Given the description of an element on the screen output the (x, y) to click on. 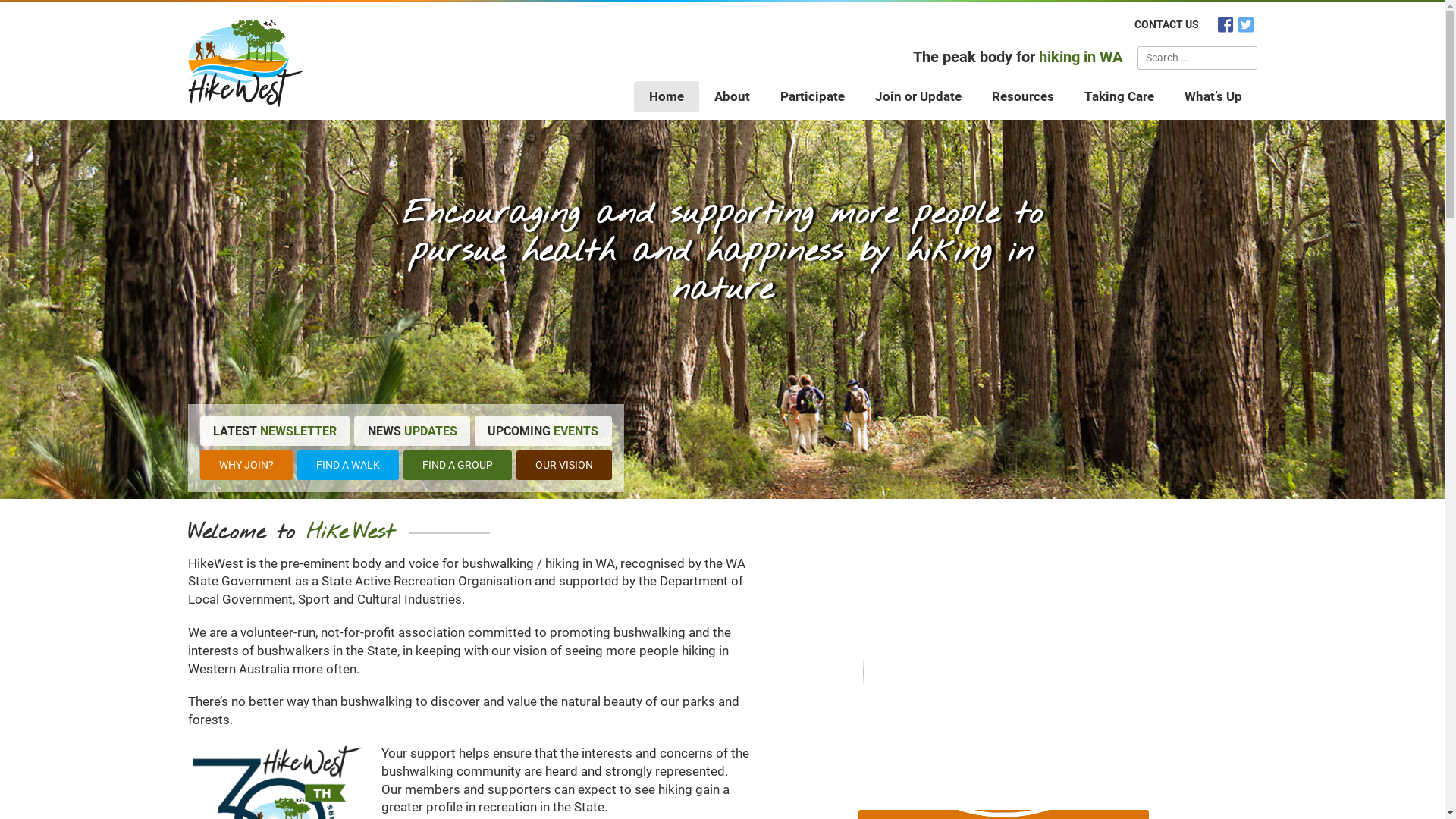
NEWS UPDATES Element type: text (412, 430)
About Element type: text (732, 95)
Taking Care Element type: text (1119, 95)
Participate Element type: text (811, 95)
FIND A GROUP Element type: text (457, 465)
Join or Update Element type: text (917, 95)
FIND A WALK Element type: text (347, 465)
Home Element type: text (666, 95)
Resources Element type: text (1022, 95)
UPCOMING EVENTS Element type: text (542, 430)
LATEST NEWSLETTER Element type: text (275, 430)
CONTACT US Element type: text (1166, 24)
OUR VISION Element type: text (563, 465)
Search Element type: text (1243, 56)
WHY JOIN? Element type: text (246, 465)
